Given the description of an element on the screen output the (x, y) to click on. 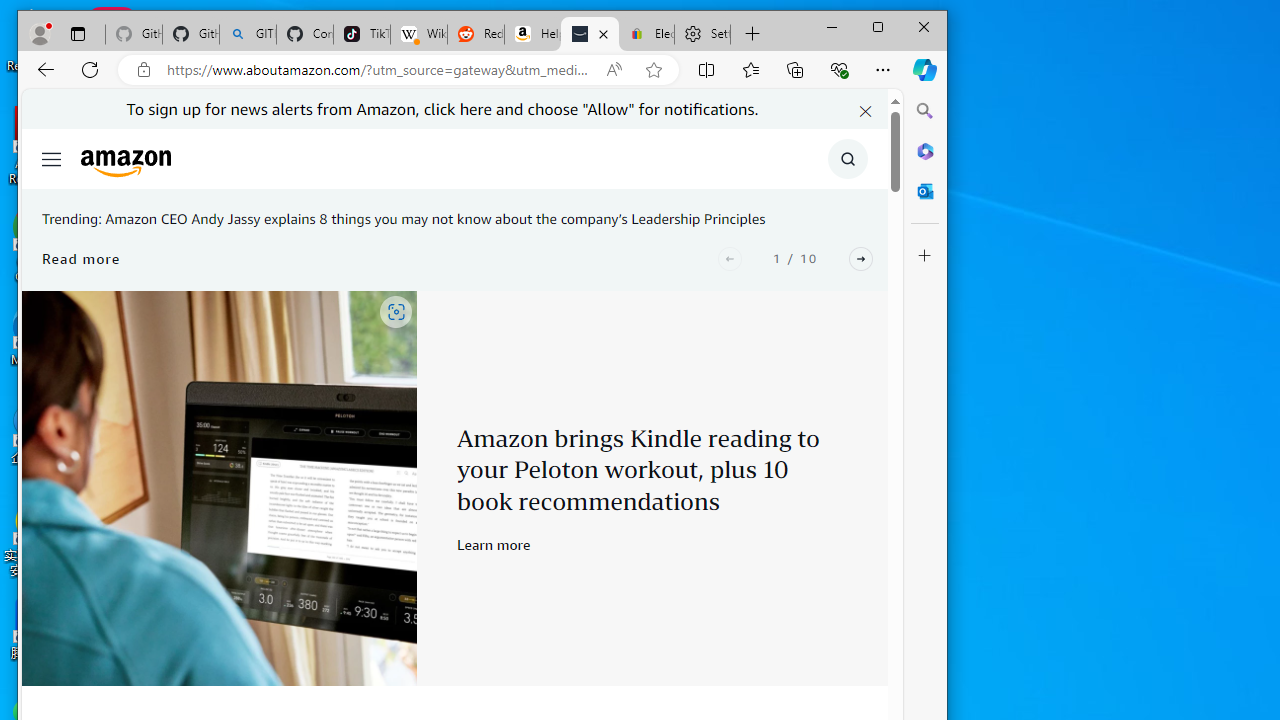
About Amazon (589, 34)
Class: burger-menu (51, 159)
Class: icon-search (847, 159)
Menu (50, 158)
Help & Contact Us - Amazon Customer Service (532, 34)
Learn more (493, 544)
